Given the description of an element on the screen output the (x, y) to click on. 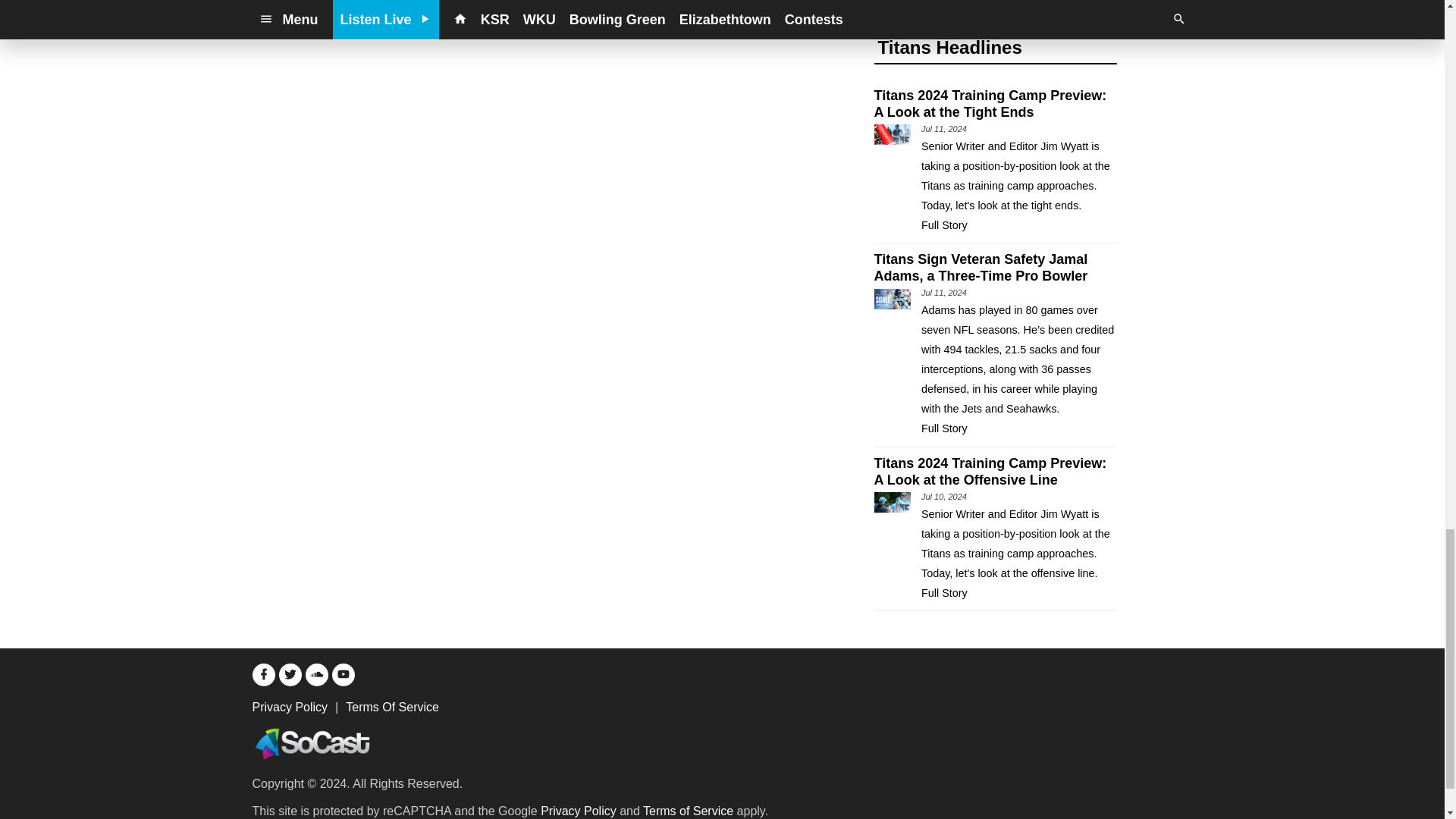
Facebook (263, 674)
Full Story (944, 224)
Soundcloud (315, 674)
YouTube (343, 674)
Titans 2024 Training Camp Preview: A Look at the Tight Ends (994, 113)
Twitter (290, 674)
